Given the description of an element on the screen output the (x, y) to click on. 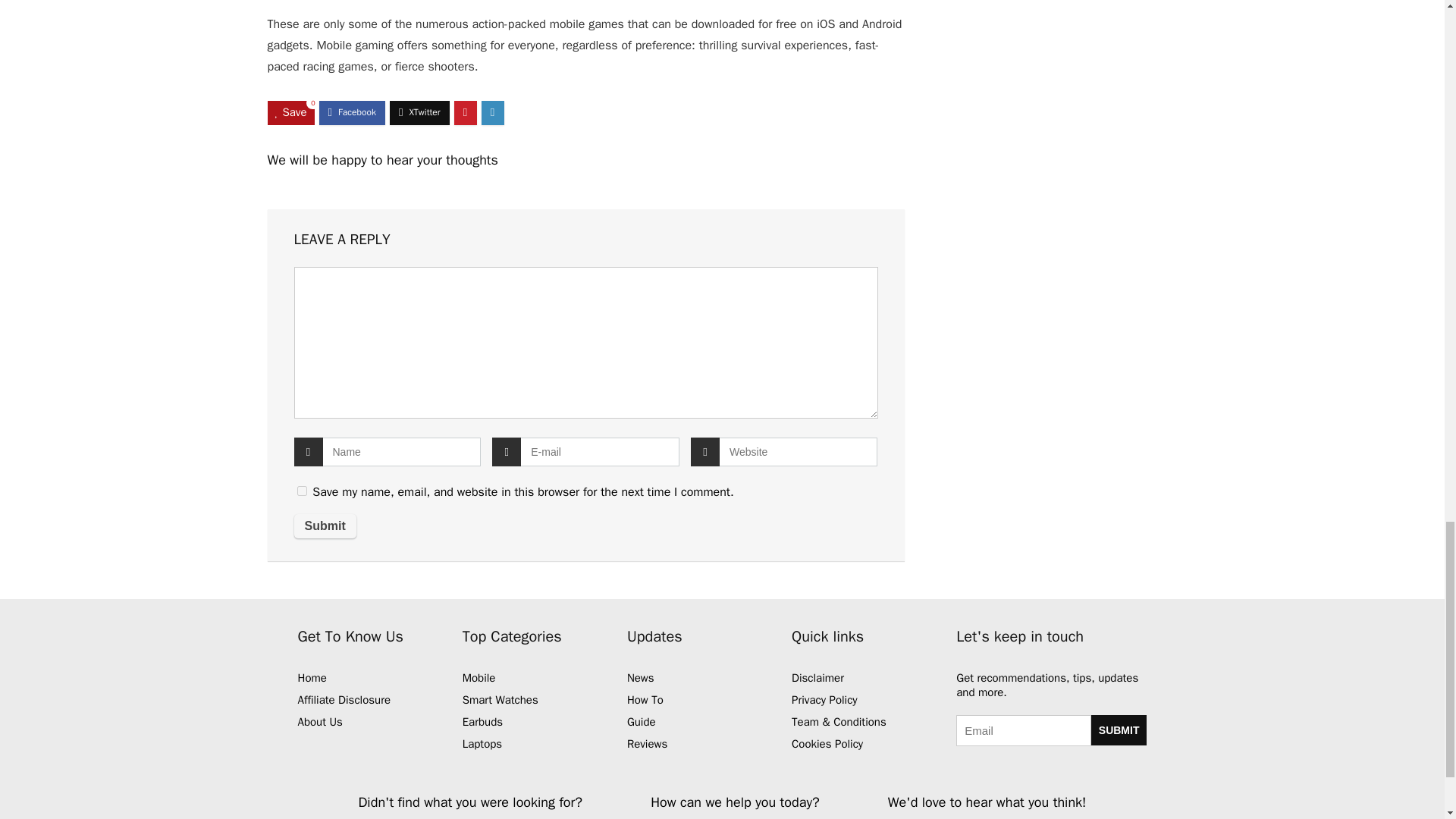
Submit (1118, 729)
Submit (325, 526)
yes (302, 491)
Submit (325, 526)
